Given the description of an element on the screen output the (x, y) to click on. 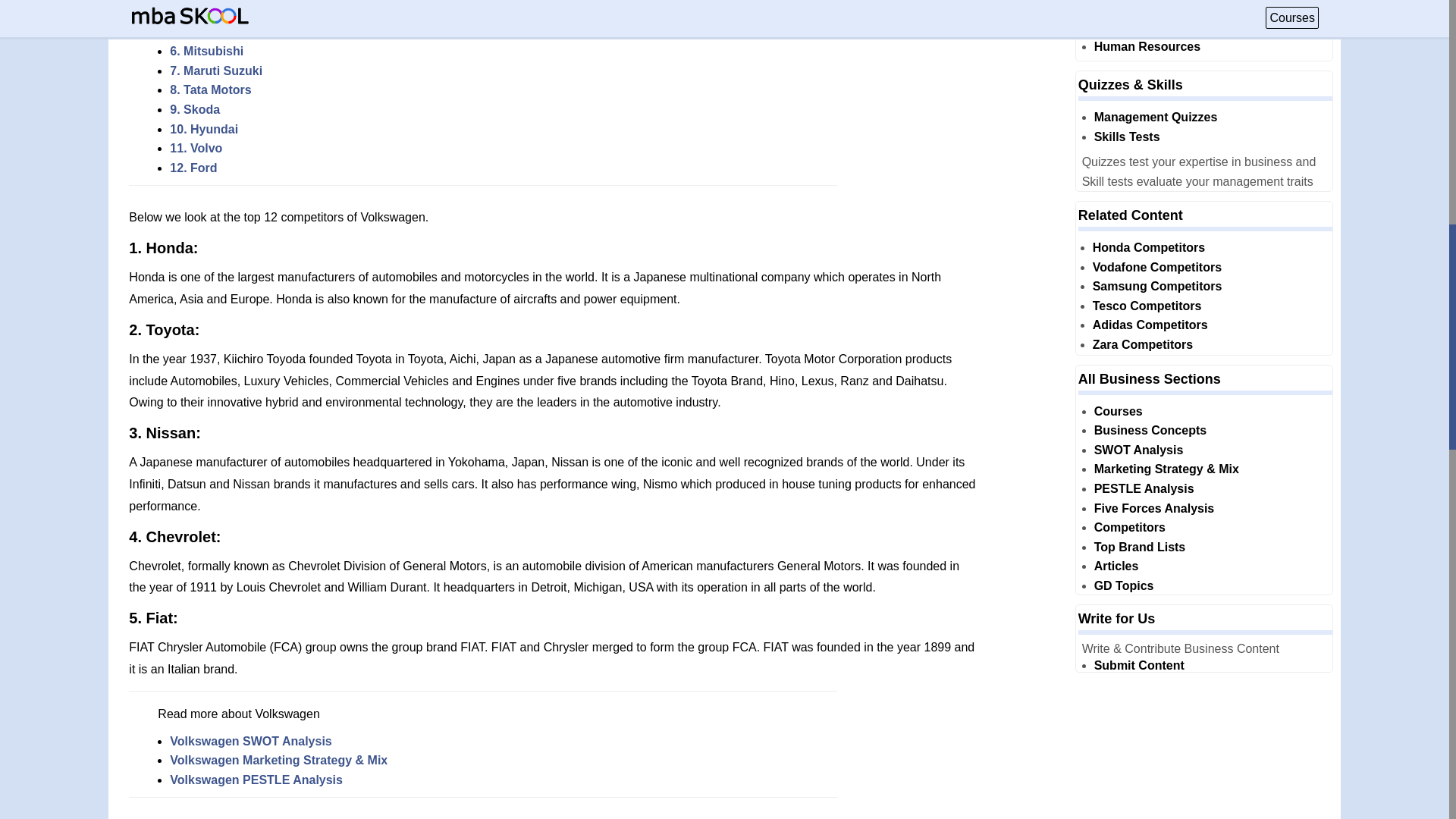
5. Fiat (187, 31)
9. Skoda (194, 109)
6. Mitsubishi (206, 51)
12. Ford (193, 167)
11. Volvo (196, 147)
7. Maruti Suzuki (216, 70)
8. Tata Motors (210, 89)
Volkswagen SWOT Analysis (250, 740)
4. Chevrolet (205, 11)
10. Hyundai (204, 128)
Volkswagen PESTLE Analysis (256, 779)
